Given the description of an element on the screen output the (x, y) to click on. 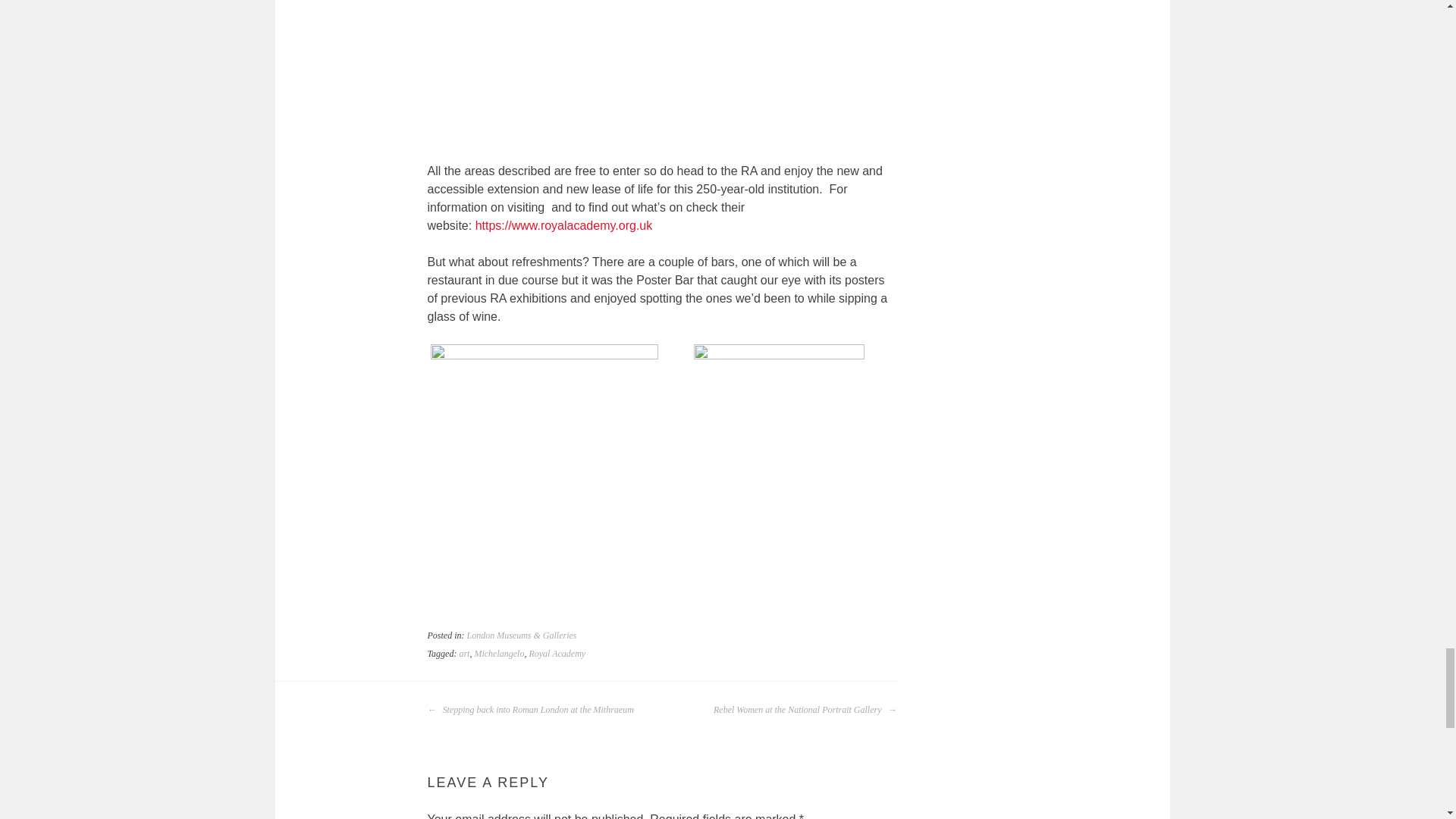
 Stepping back into Roman London at the Mithraeum (530, 710)
Rebel Women at the National Portrait Gallery  (804, 710)
Royal Academy (556, 653)
Michelangelo (499, 653)
art (463, 653)
